Given the description of an element on the screen output the (x, y) to click on. 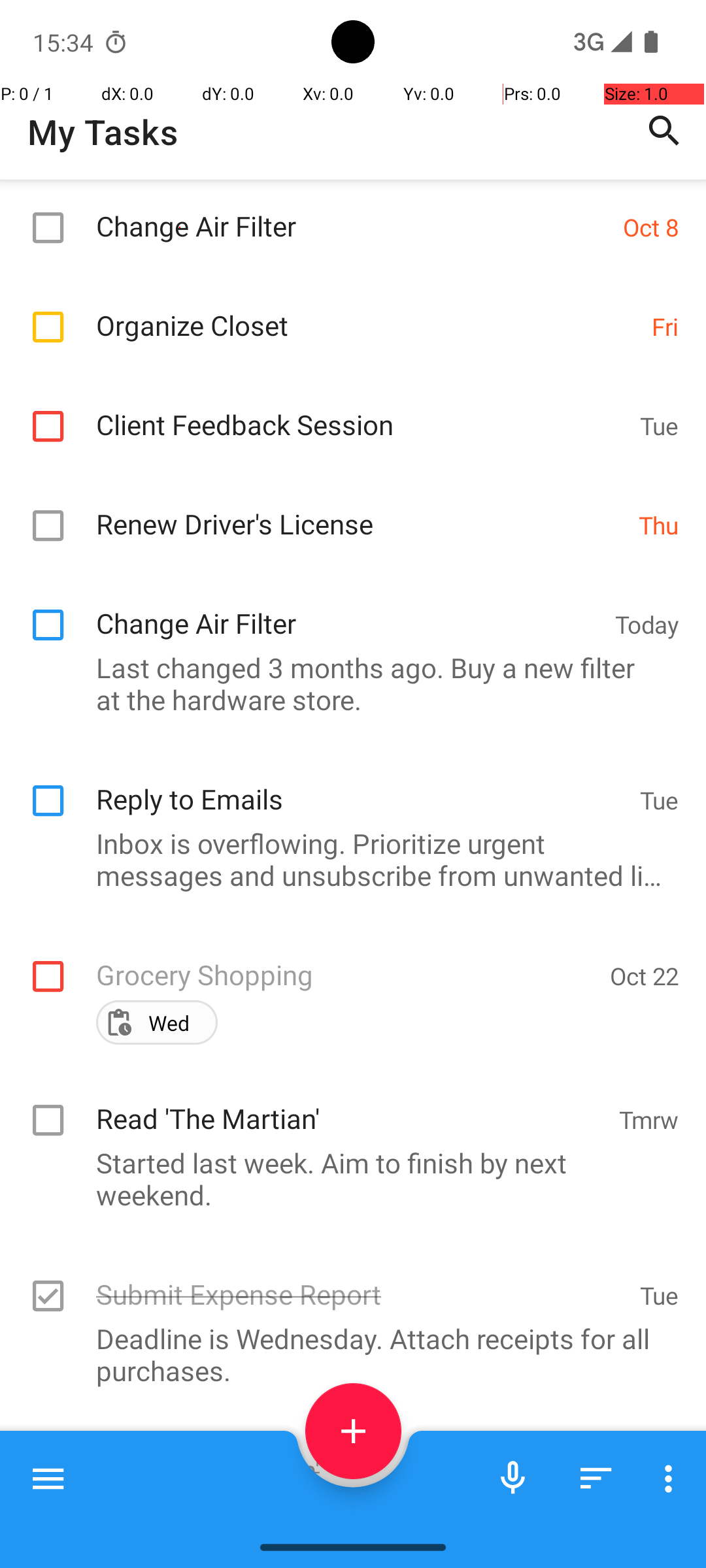
Client Feedback Session Element type: android.widget.TextView (361, 410)
